Given the description of an element on the screen output the (x, y) to click on. 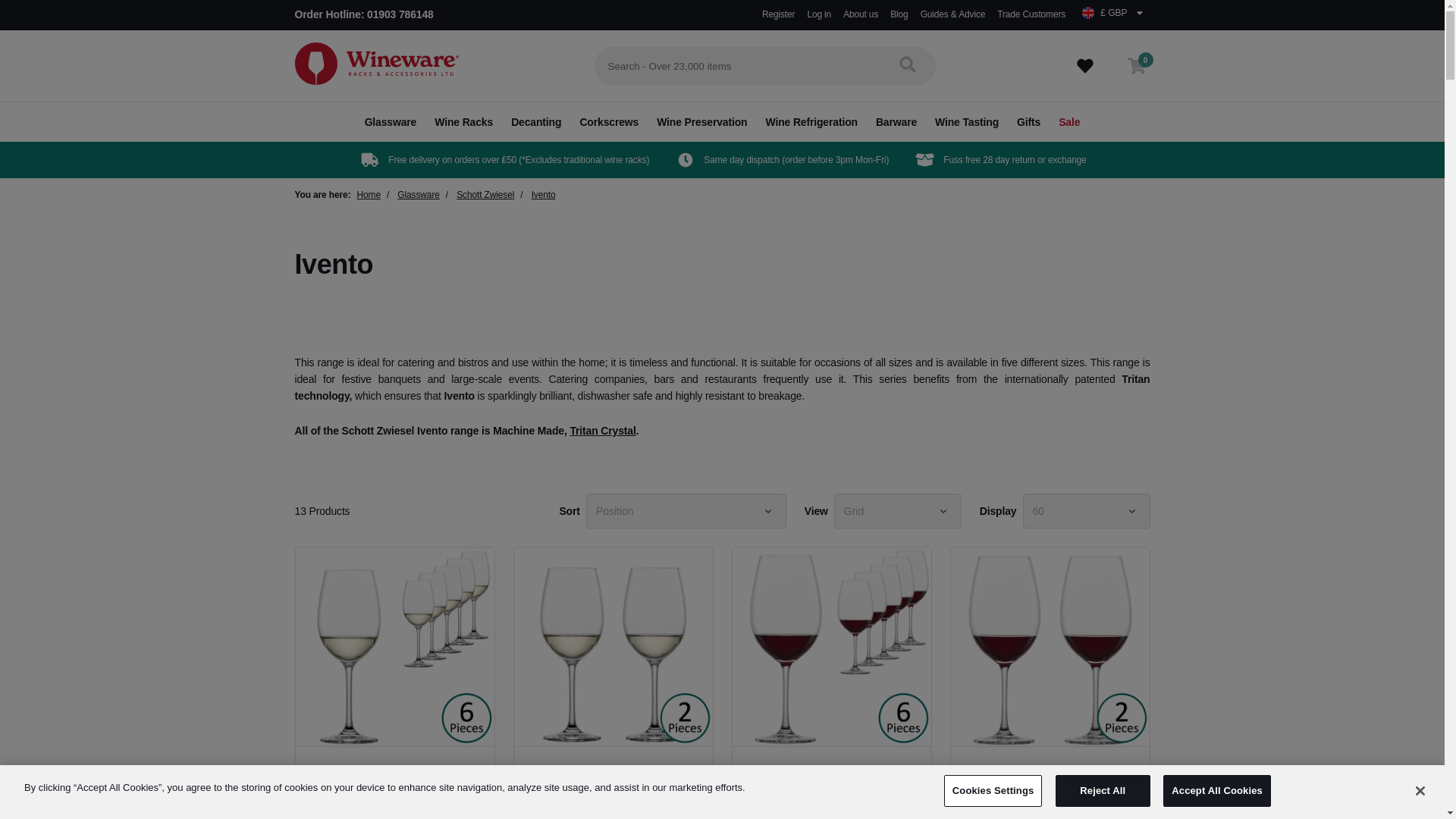
Wishlist (1083, 65)
Basket (1136, 65)
Register (777, 14)
Log in (818, 14)
About us (860, 14)
Glassware (390, 121)
home (376, 65)
Trade Customers (1031, 14)
0 (1136, 65)
search (907, 64)
Order Hotline: 01903 786148 (363, 14)
